Given the description of an element on the screen output the (x, y) to click on. 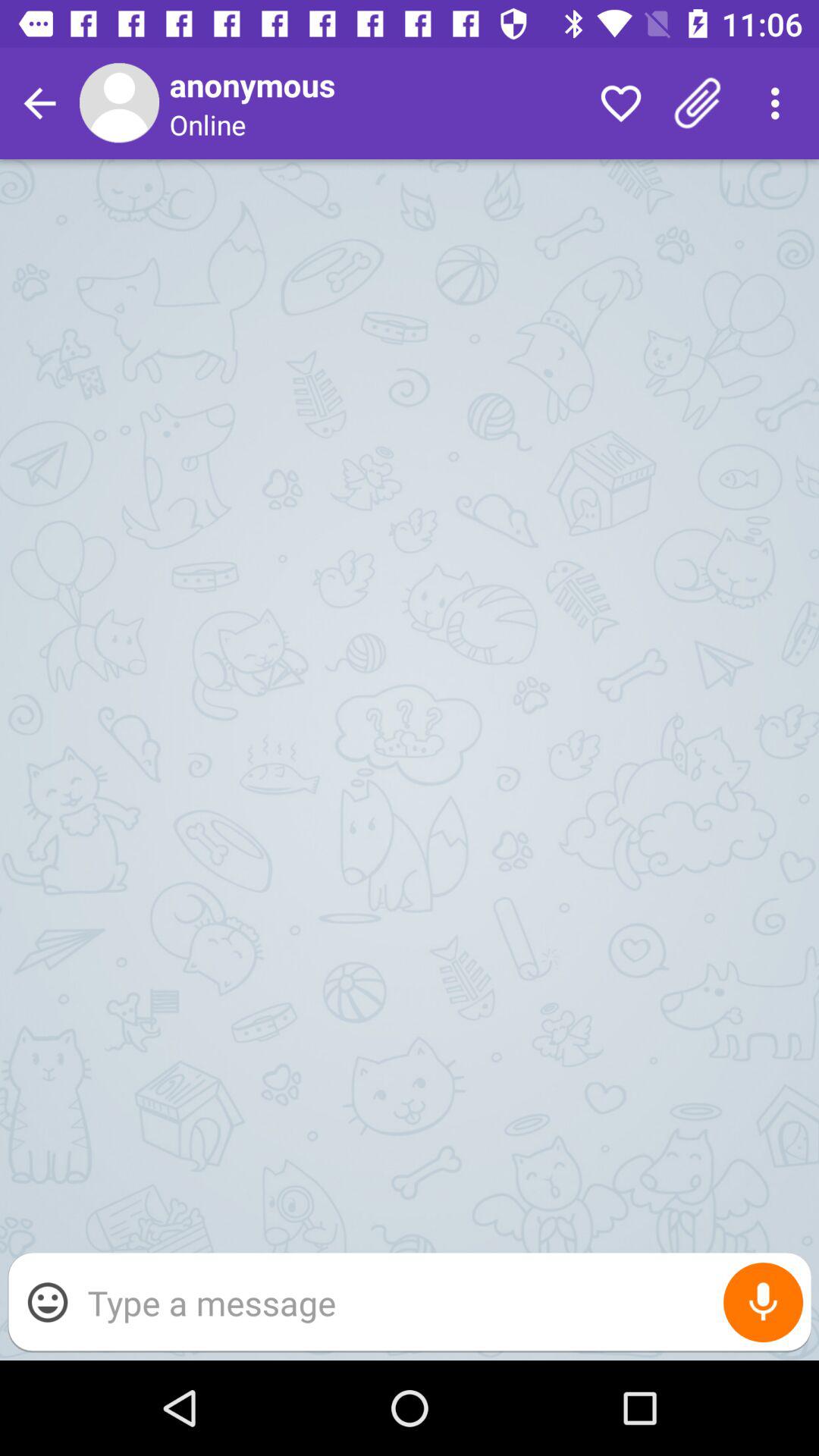
speak a new message (763, 1302)
